Given the description of an element on the screen output the (x, y) to click on. 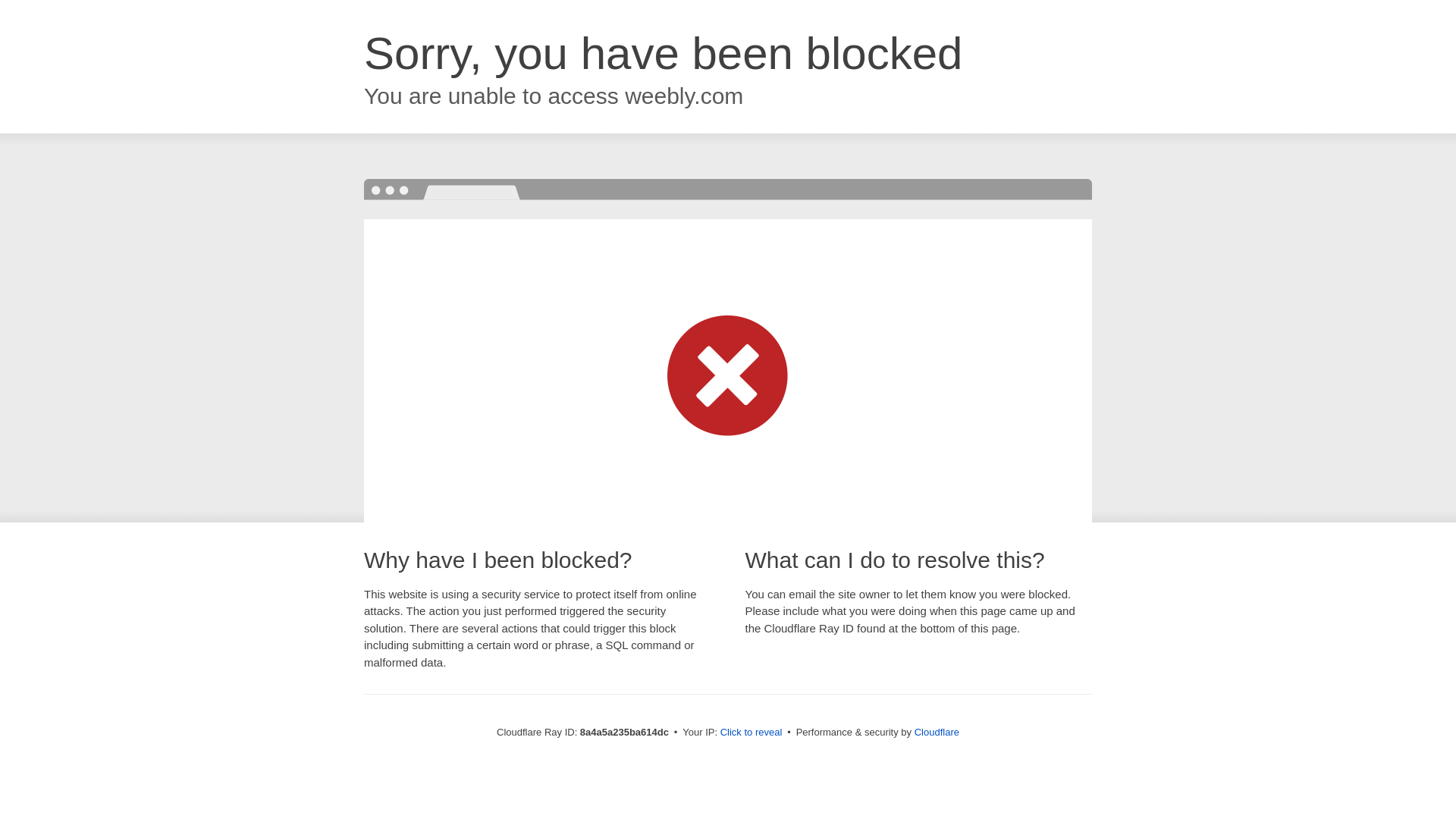
Click to reveal (751, 732)
Cloudflare (936, 731)
